Given the description of an element on the screen output the (x, y) to click on. 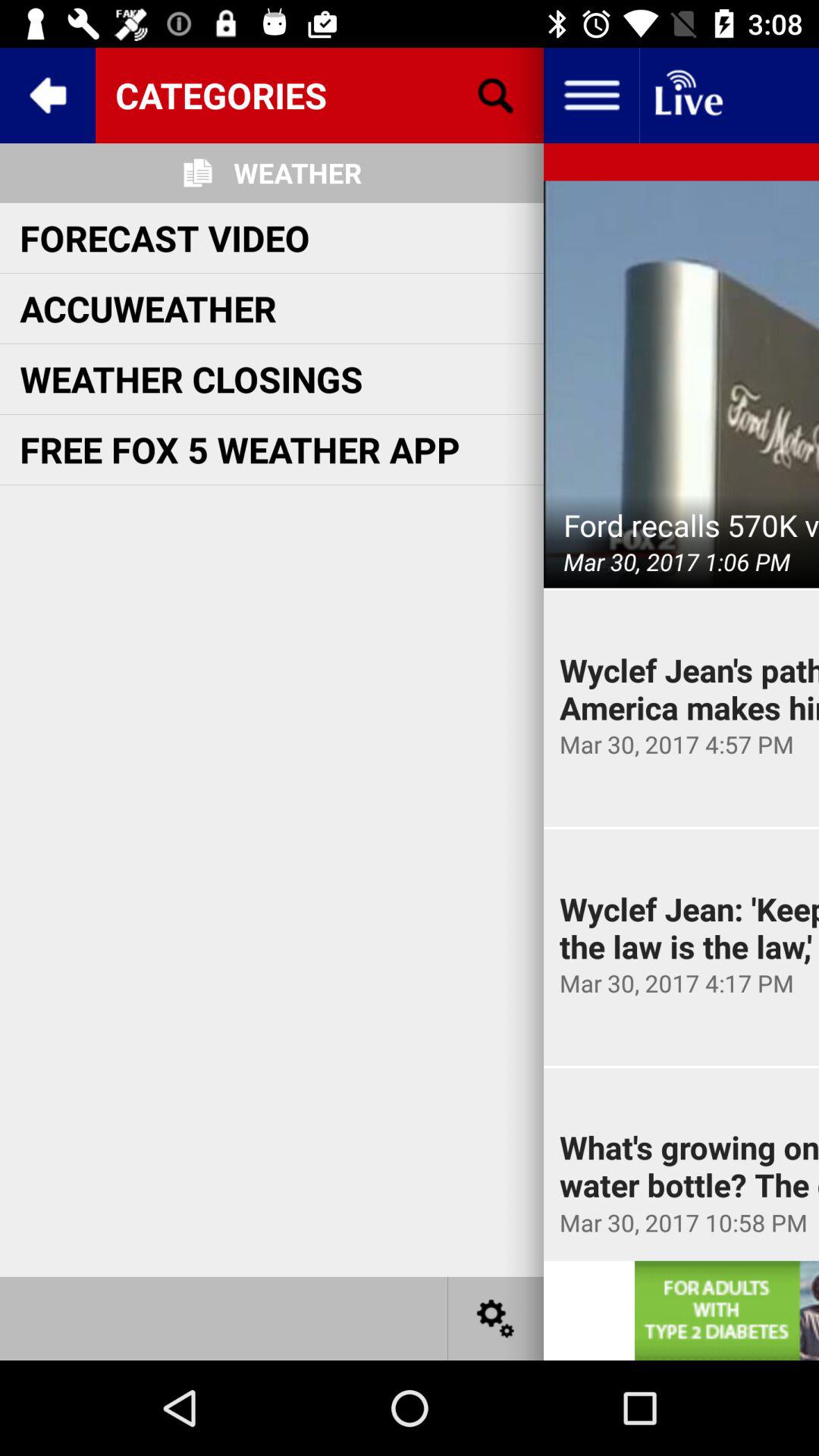
more options (495, 1318)
